Given the description of an element on the screen output the (x, y) to click on. 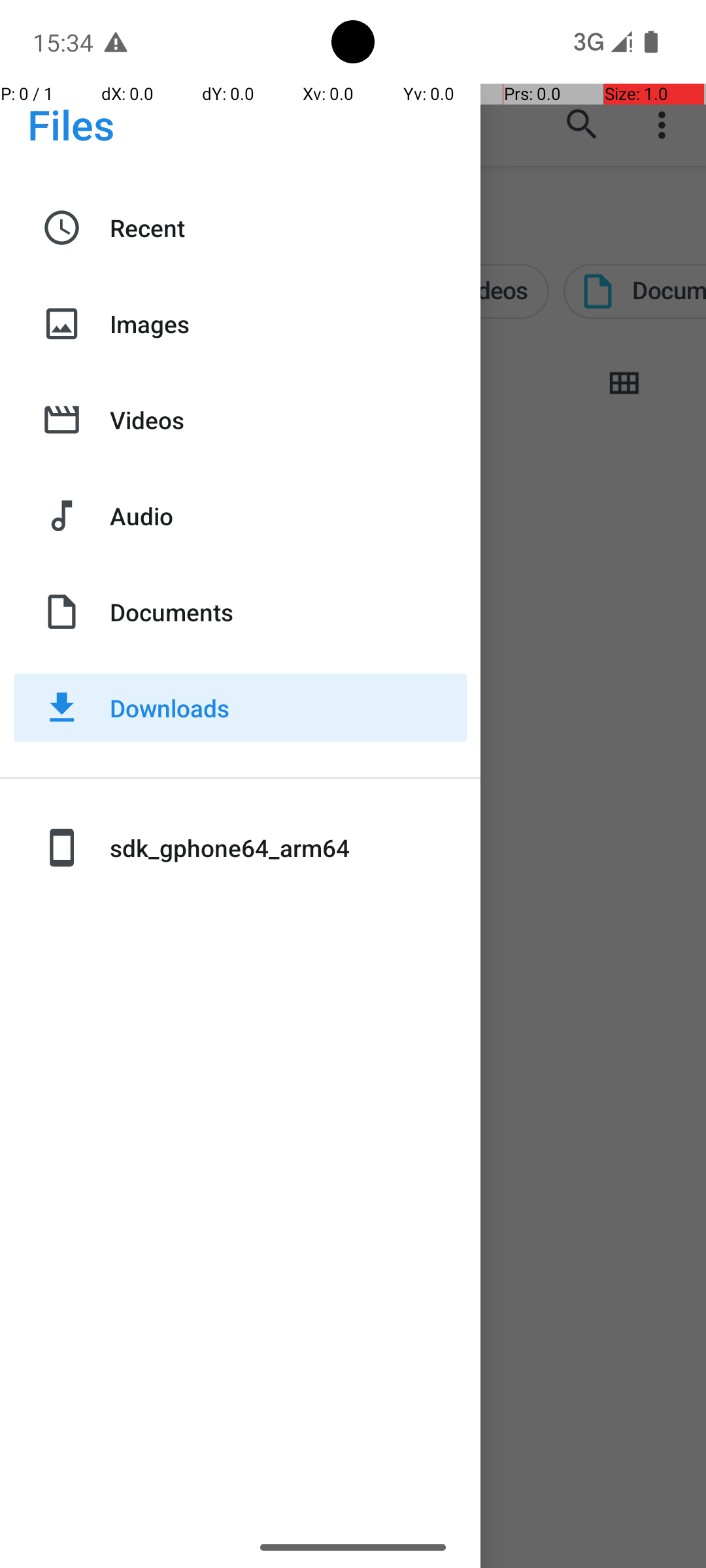
Files Element type: android.widget.TextView (70, 124)
sdk_gphone64_arm64 Element type: android.widget.TextView (287, 847)
